Given the description of an element on the screen output the (x, y) to click on. 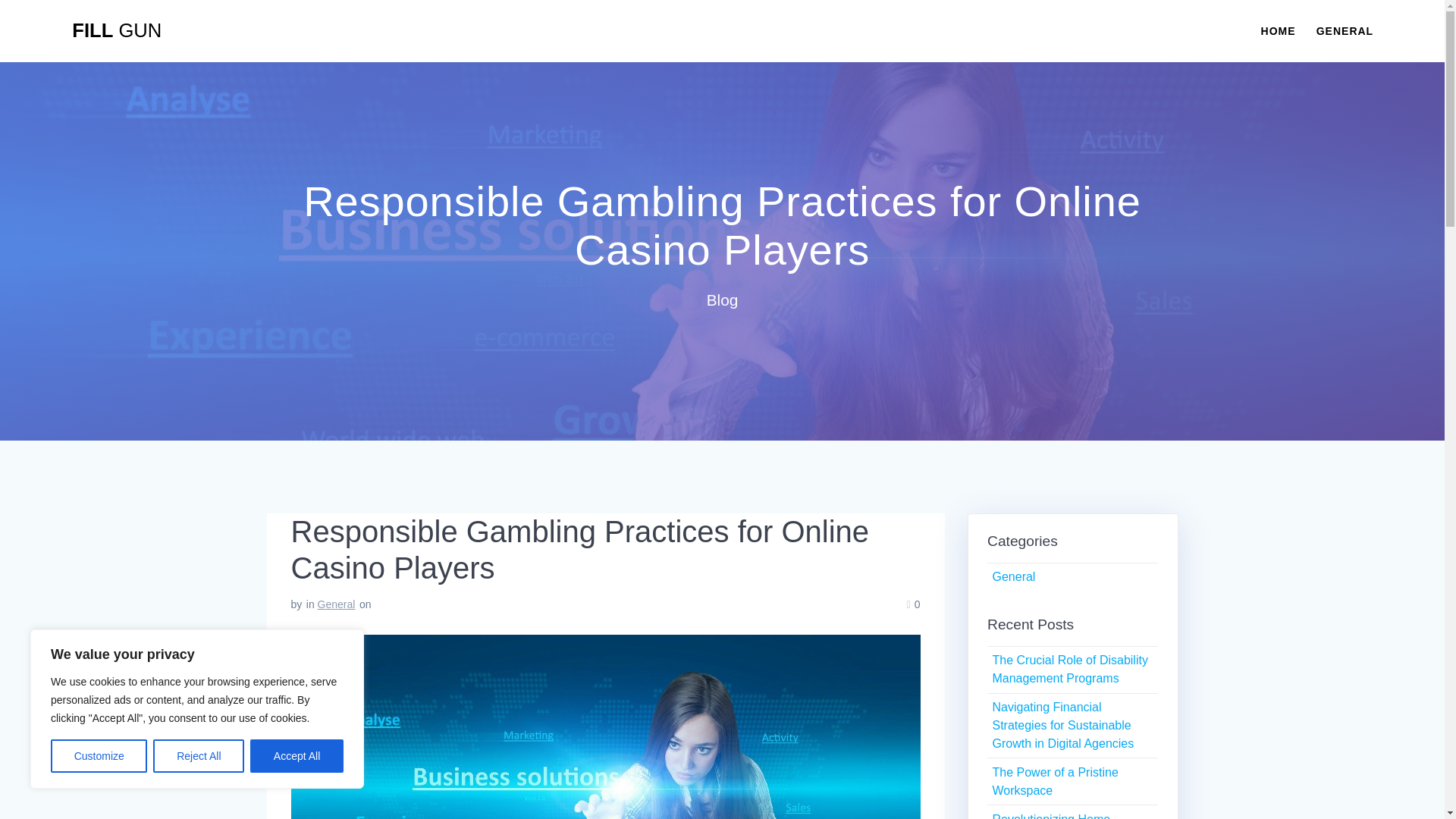
FILL GUN (116, 30)
The Crucial Role of Disability Management Programs (1069, 668)
General (1013, 576)
Accept All (296, 756)
Customize (98, 756)
GENERAL (1344, 30)
Reject All (198, 756)
HOME (1277, 30)
